Given the description of an element on the screen output the (x, y) to click on. 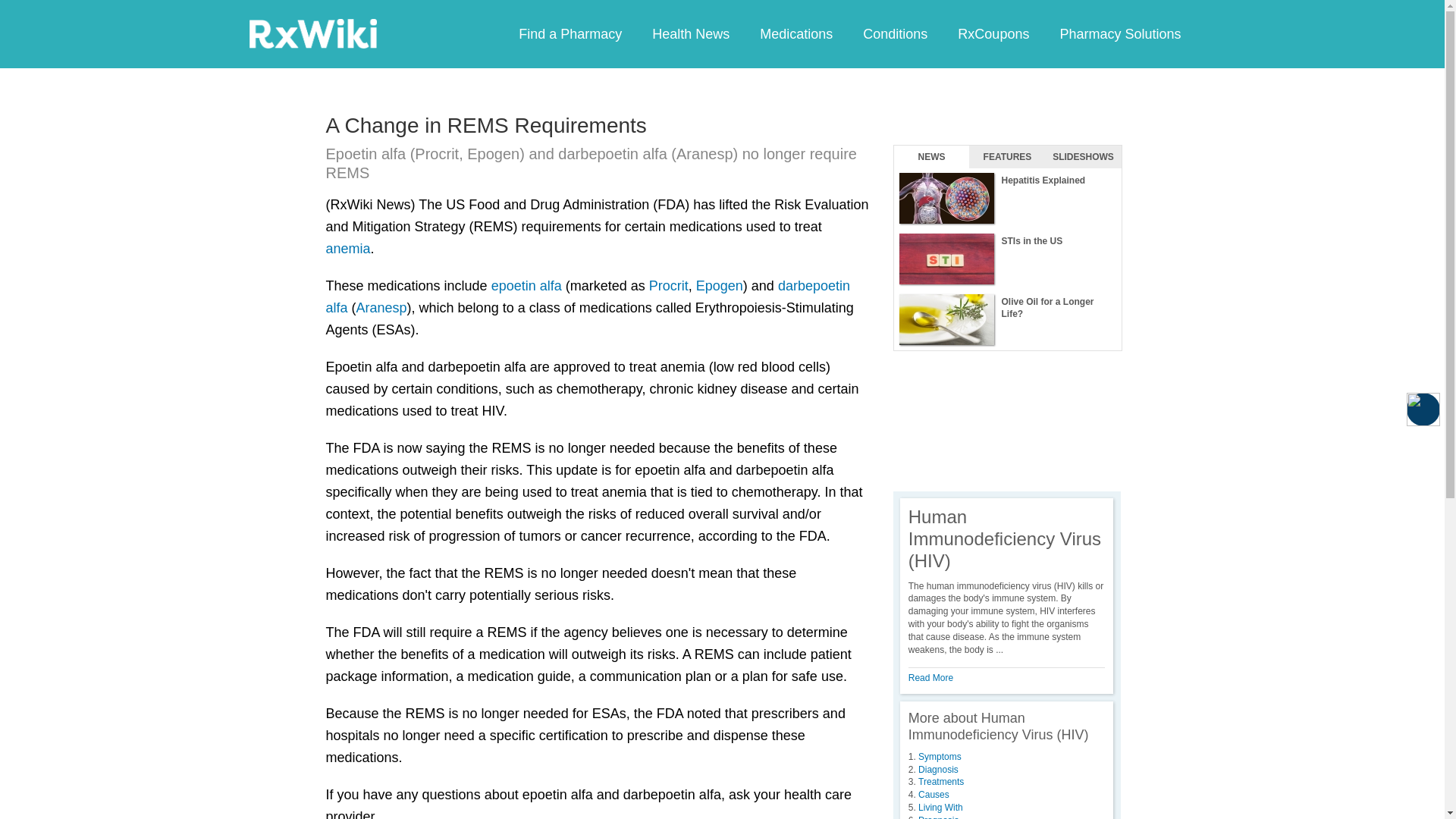
FEATURES (1007, 156)
Medications (795, 33)
anemia (348, 248)
Pharmacy Solutions (1119, 33)
Health News (690, 33)
RxCoupons (992, 33)
RxWiki (312, 32)
Find a Pharmacy (570, 33)
Procrit (668, 285)
Epogen (718, 285)
Accessibility Menu (1422, 409)
Aranesp (381, 307)
NEWS (931, 156)
darbepoetin alfa (588, 296)
Conditions (894, 33)
